Given the description of an element on the screen output the (x, y) to click on. 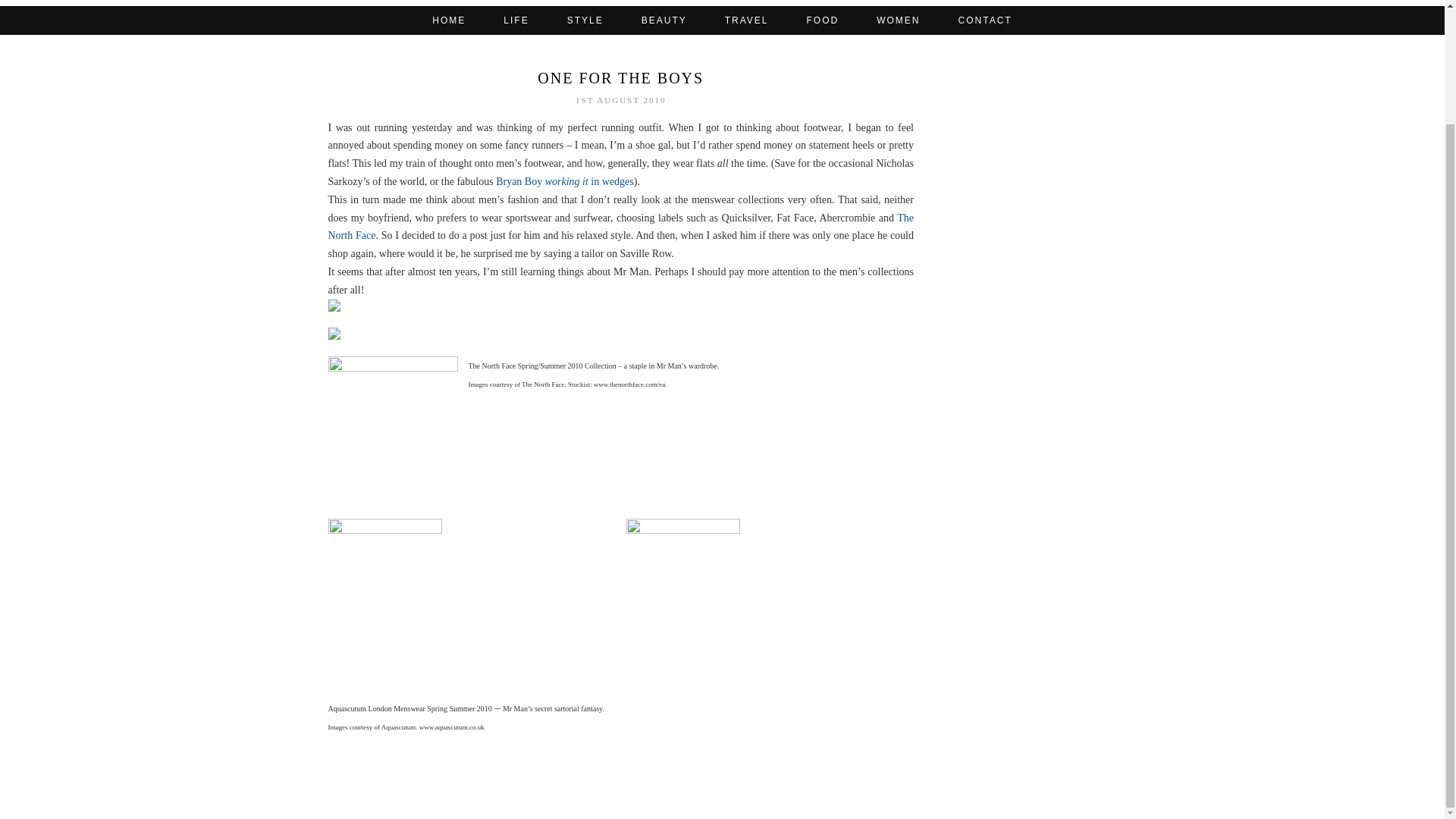
CONTACT (984, 20)
TRAVEL (746, 20)
LIFE (515, 20)
STYLE (585, 20)
WOMEN (898, 20)
The North Face (620, 226)
BEAUTY (664, 20)
HOME (448, 20)
Bryan Boy working it in wedges (564, 181)
FOOD (823, 20)
